Given the description of an element on the screen output the (x, y) to click on. 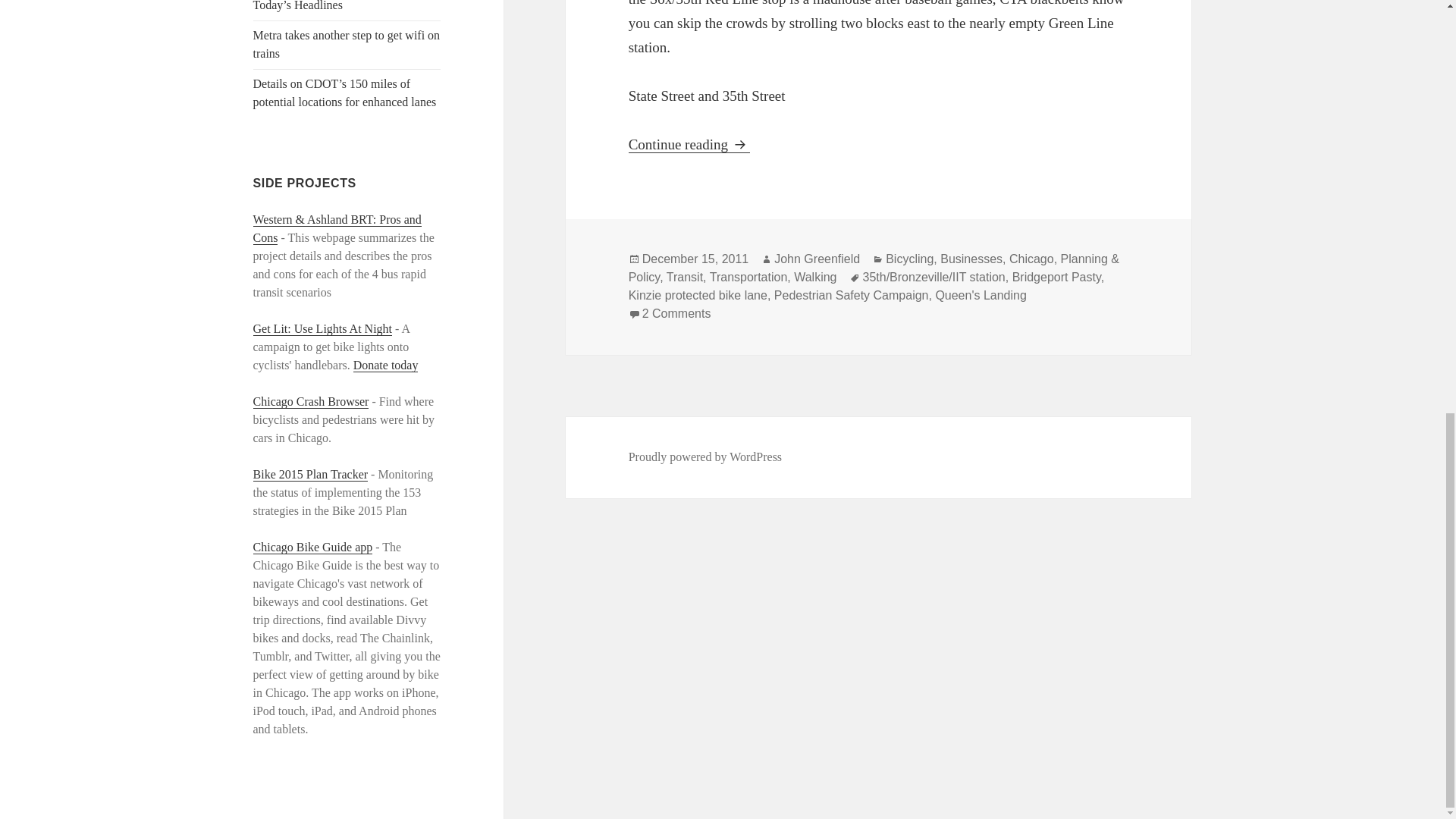
Get Lit: Use Lights At Night (323, 328)
Kinzie protected bike lane (697, 295)
Businesses (971, 259)
Bridgeport Pasty (1055, 277)
Queen's Landing (980, 295)
Donate today (386, 365)
Pedestrian Safety Campaign (851, 295)
Transit (684, 277)
Chicago Bike Guide app (312, 547)
Chicago (1031, 259)
Bike 2015 Plan Tracker (310, 474)
John Greenfield (817, 259)
Walking (814, 277)
Bicycling (909, 259)
December 15, 2011 (695, 259)
